Given the description of an element on the screen output the (x, y) to click on. 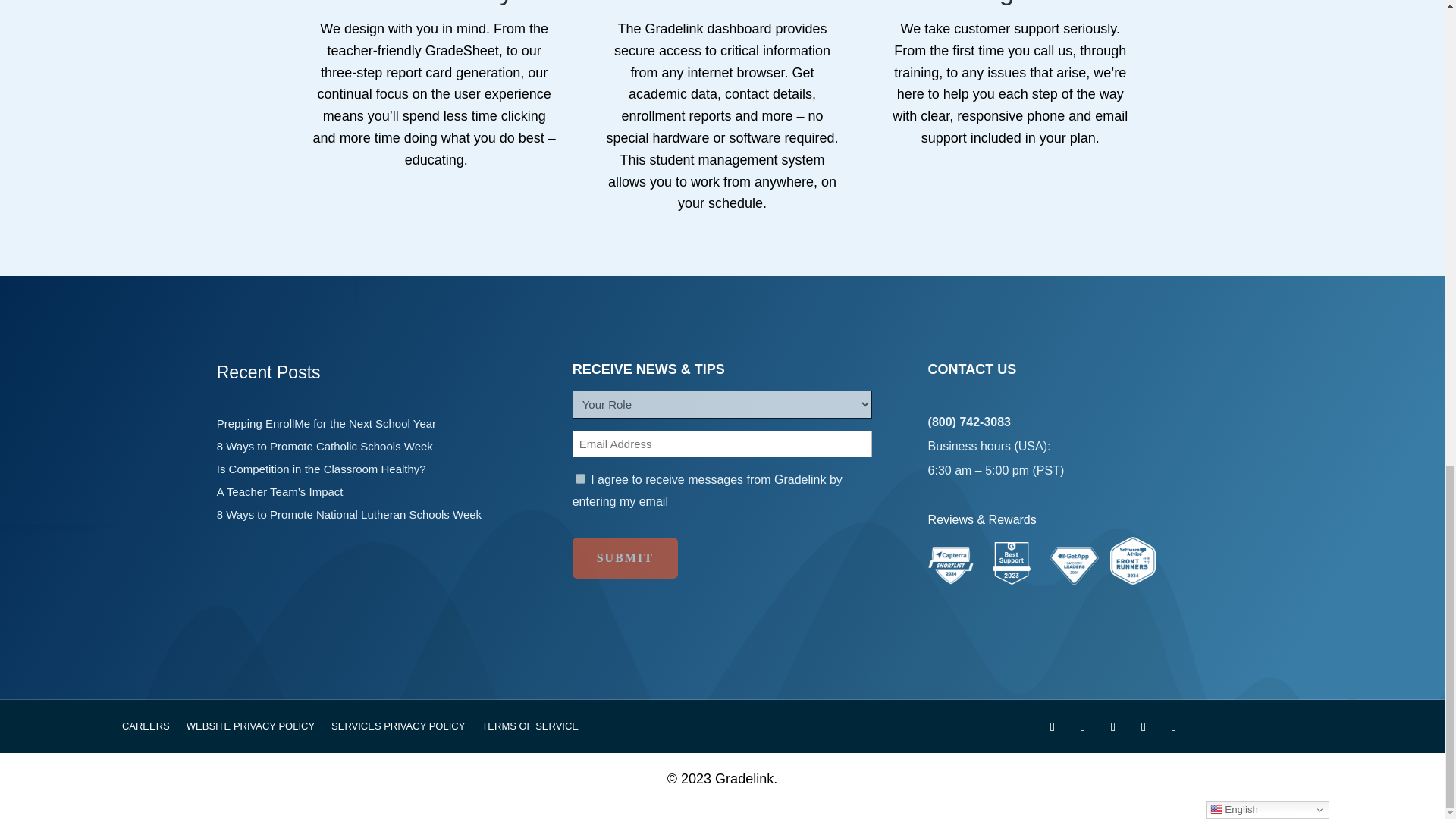
Frontrunners Badge (1132, 561)
Gradelink is on the Software Advice Front Runners list (1132, 580)
1 (580, 479)
Follow on Instagram (1143, 726)
Category Leaders Badge (1074, 566)
Gradelink is a GetApp Category Leader (1074, 580)
Follow on Youtube (1112, 726)
Gradelink is on the Capterra Shortlist 2022 (951, 580)
Follow on X (1082, 726)
Follow on LinkedIn (1173, 726)
Submit (625, 557)
Follow on Facebook (1052, 726)
